Given the description of an element on the screen output the (x, y) to click on. 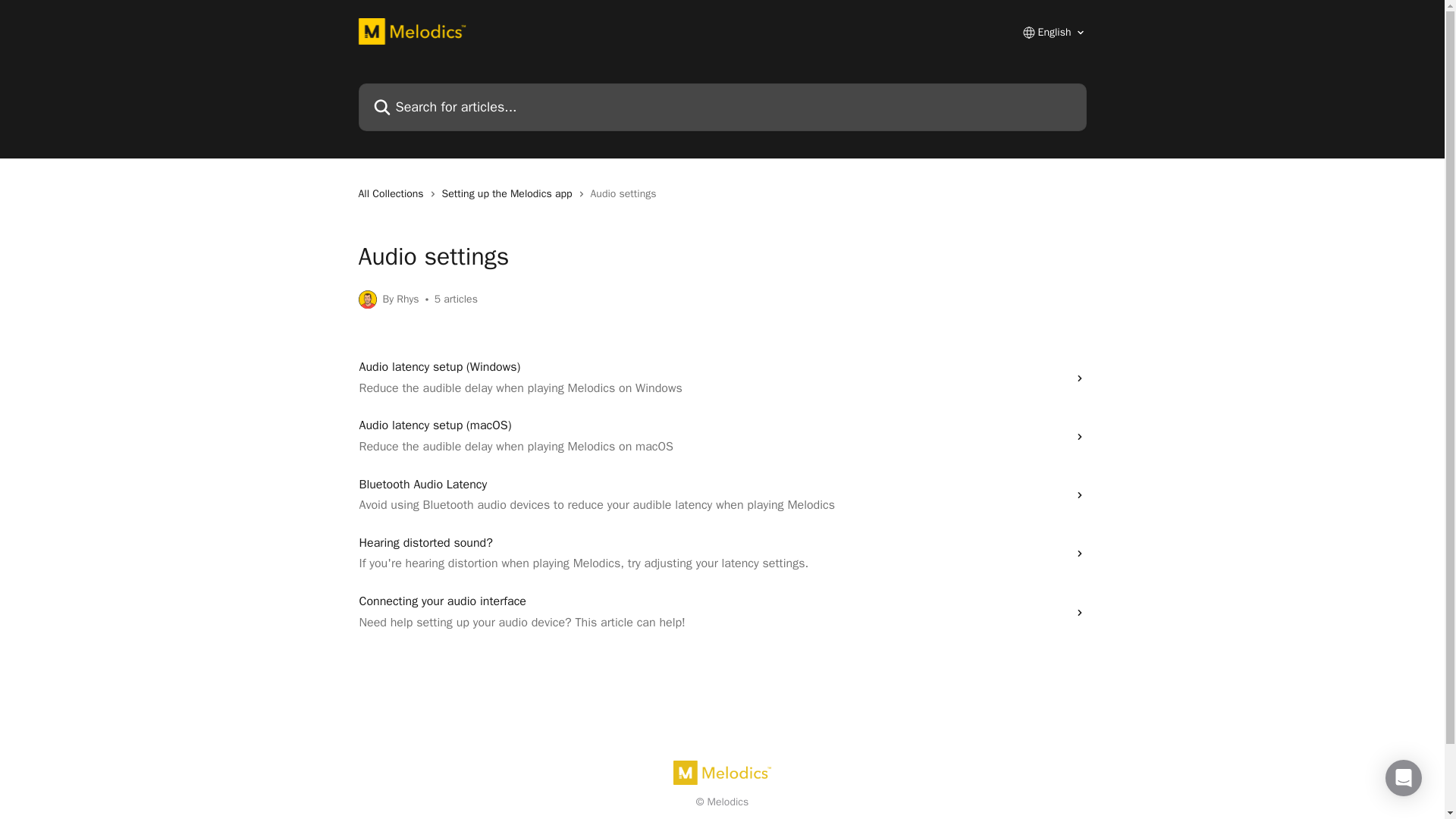
Setting up the Melodics app (510, 193)
All Collections (393, 193)
